Given the description of an element on the screen output the (x, y) to click on. 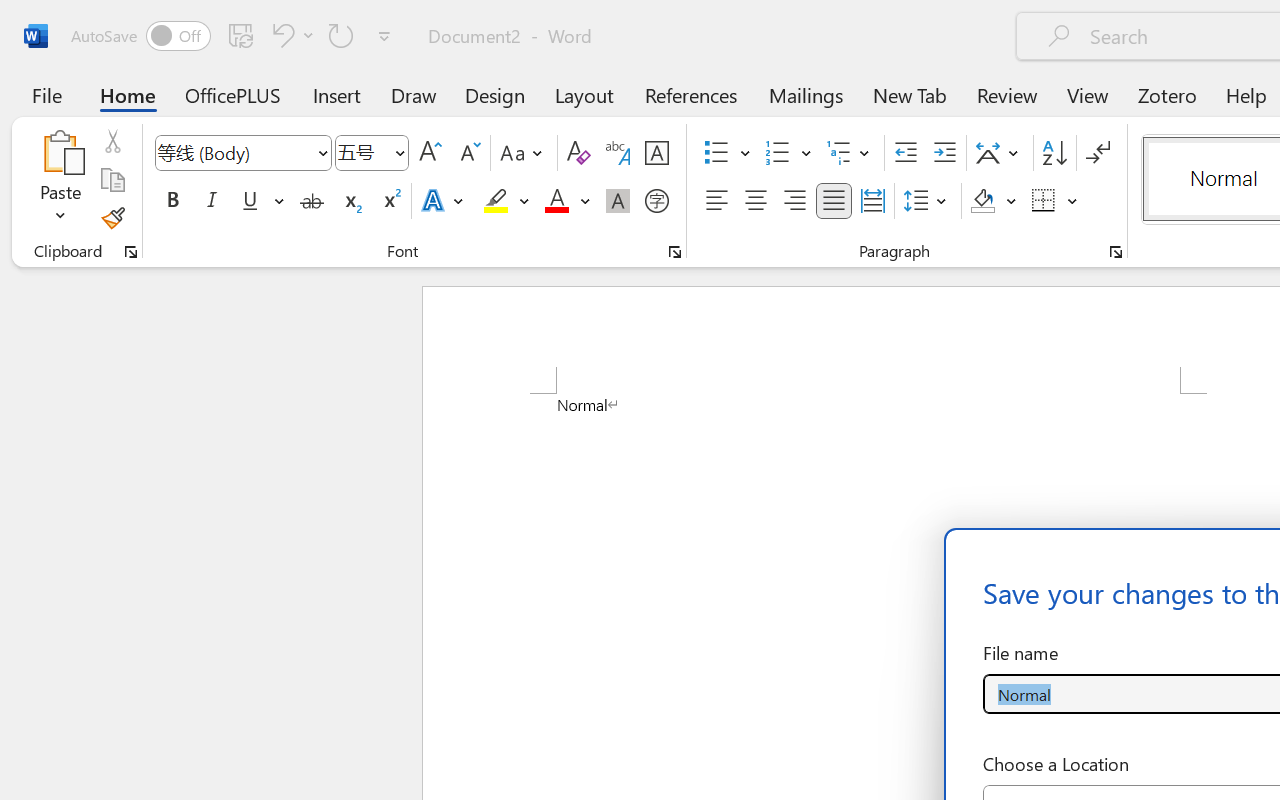
Draw (413, 94)
Customize Quick Access Toolbar (384, 35)
Text Highlight Color (506, 201)
Review (1007, 94)
Borders (1055, 201)
Sort... (1054, 153)
Shrink Font (468, 153)
Insert (337, 94)
Numbering (788, 153)
Design (495, 94)
Open (399, 152)
Home (127, 94)
Clear Formatting (578, 153)
Italic (212, 201)
